Given the description of an element on the screen output the (x, y) to click on. 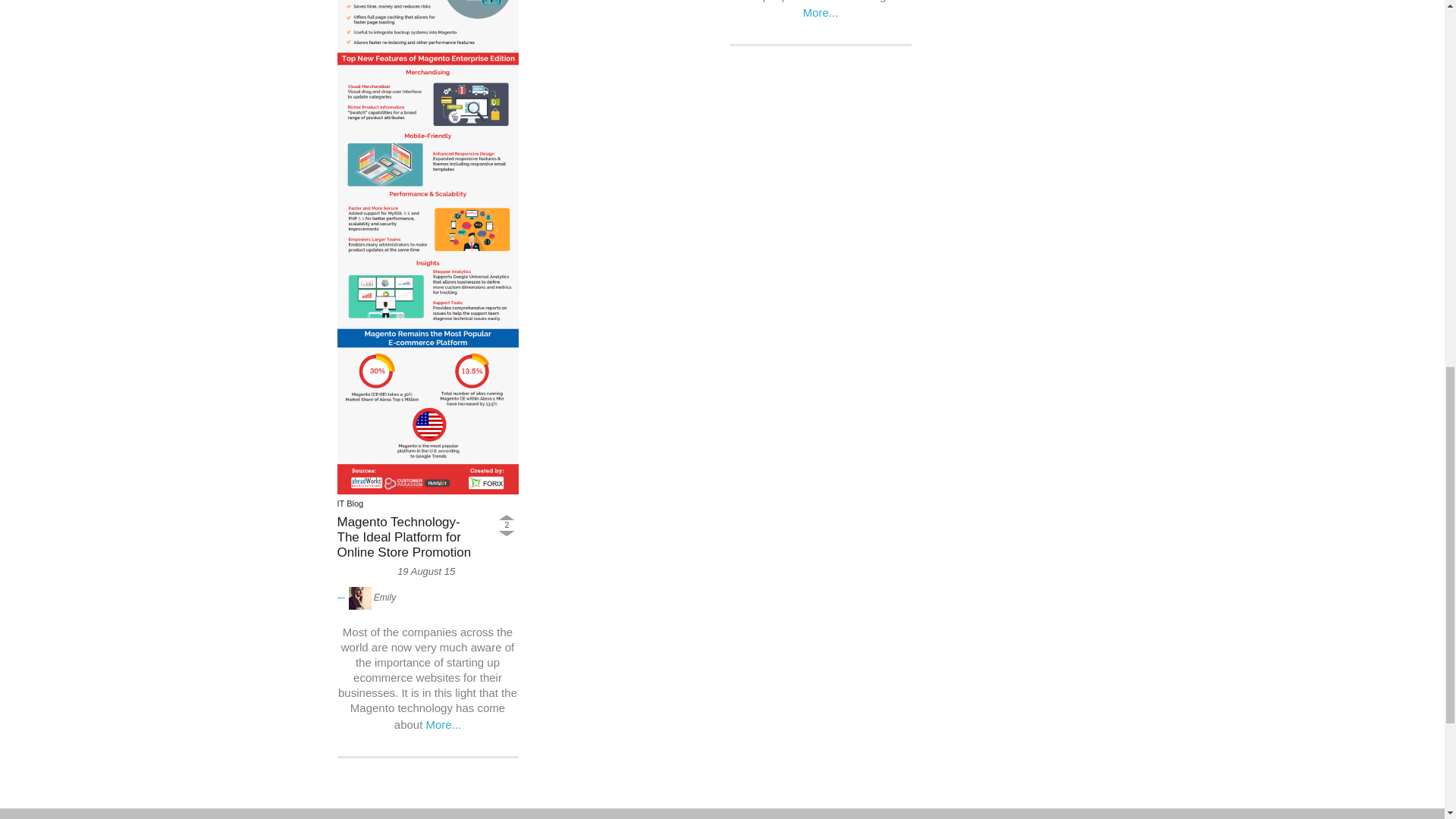
This post is unclear and not useful (506, 533)
This post is useful (506, 517)
More... (443, 724)
More... (820, 11)
